Given the description of an element on the screen output the (x, y) to click on. 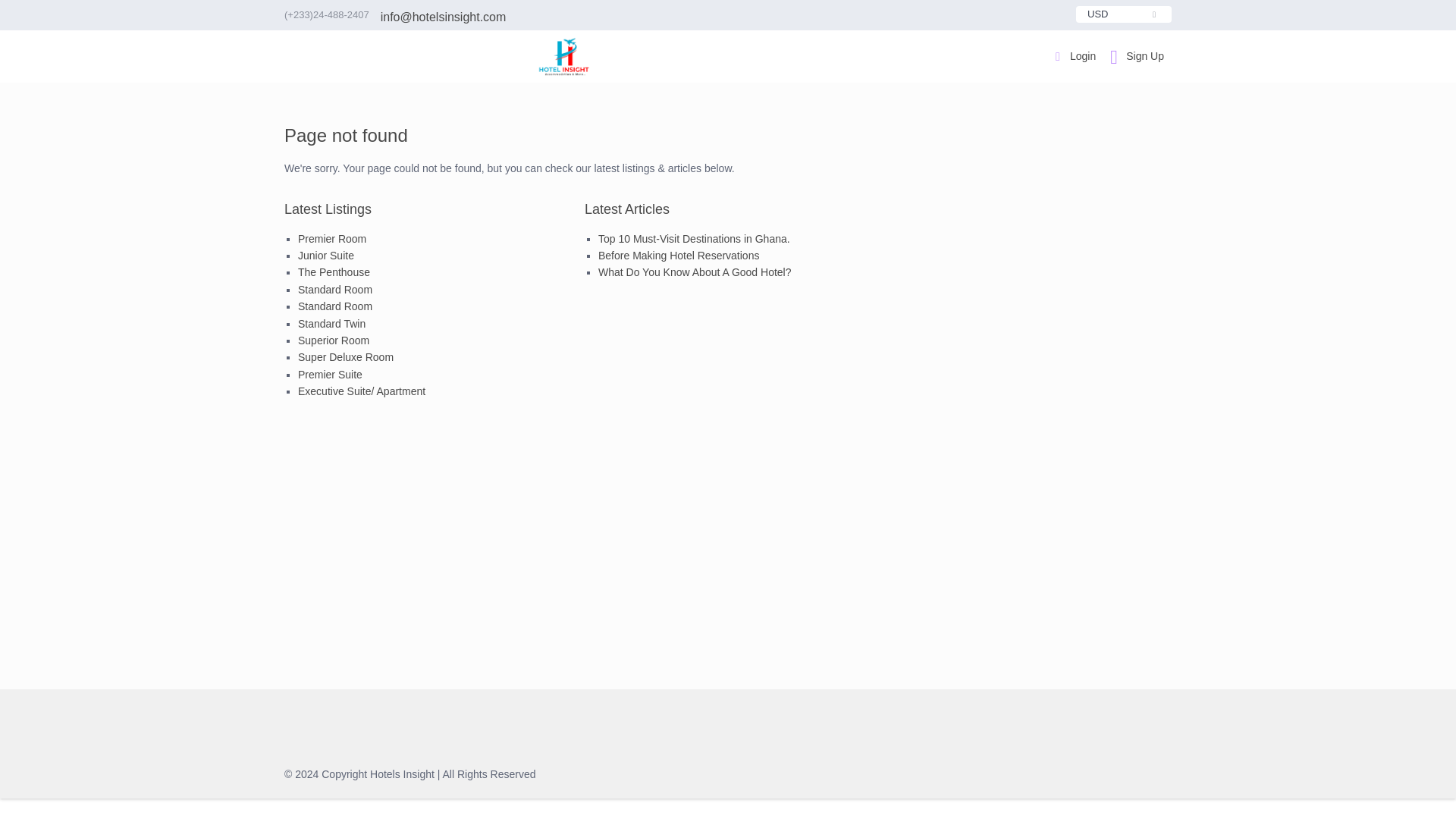
Top 10 Must-Visit Destinations in Ghana. (694, 238)
Super Deluxe Room (345, 357)
Standard Room (335, 289)
What Do You Know About A Good Hotel? (695, 272)
Premier Suite (330, 374)
Standard Twin (331, 323)
Standard Room (335, 306)
Junior Suite (325, 255)
The Penthouse (333, 272)
Before Making Hotel Reservations (678, 255)
Superior Room (333, 340)
Premier Room (332, 238)
